Given the description of an element on the screen output the (x, y) to click on. 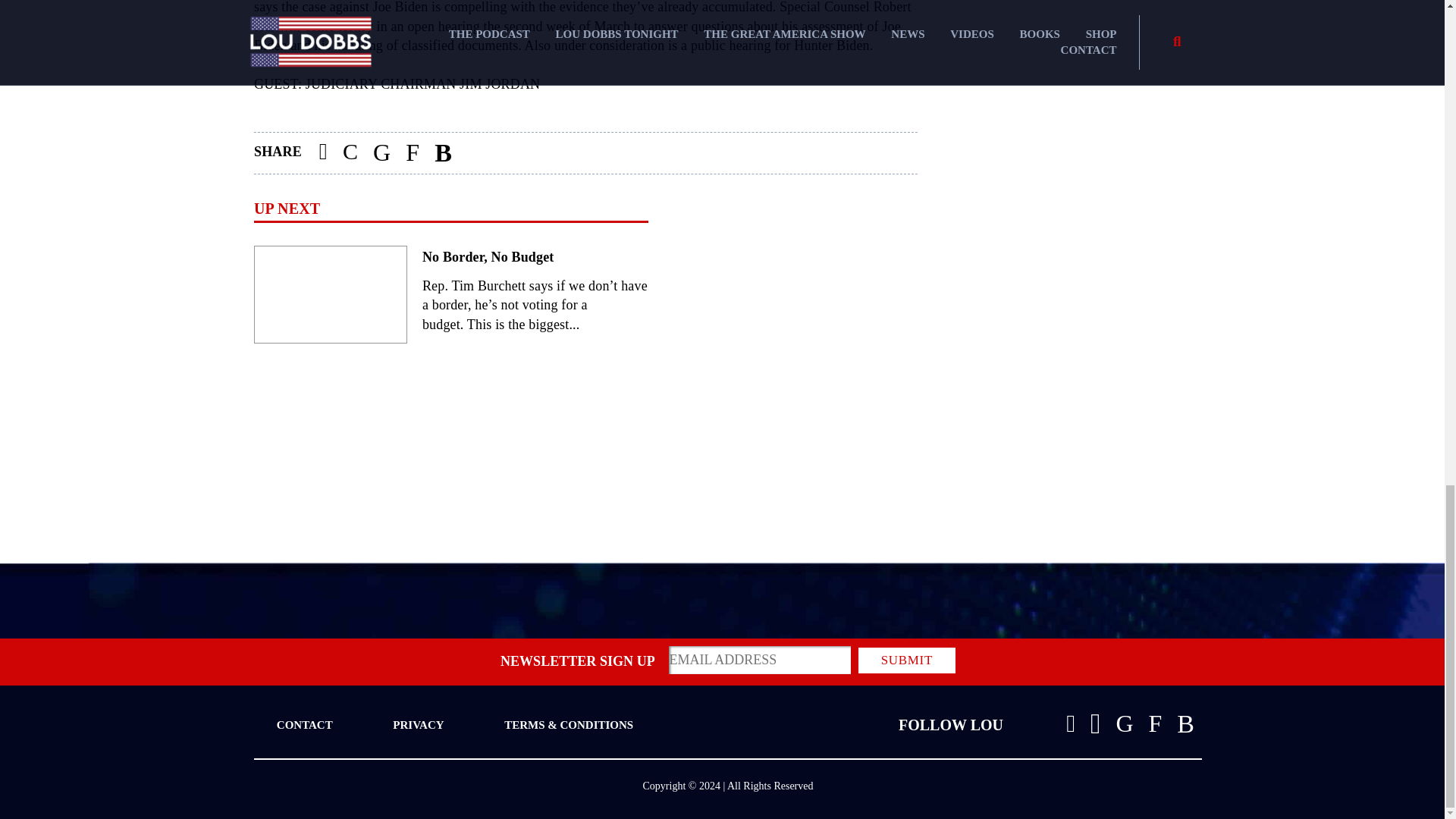
Submit (907, 660)
Instagram (1095, 723)
Facebook (1070, 723)
Gettr (1185, 724)
Submit (907, 660)
Truth Social (1155, 723)
Share on Gettr (443, 153)
Share on Twitter (381, 153)
Share on Truth Social (411, 153)
Share on Facebook (322, 153)
Share on Parler (349, 153)
